Given the description of an element on the screen output the (x, y) to click on. 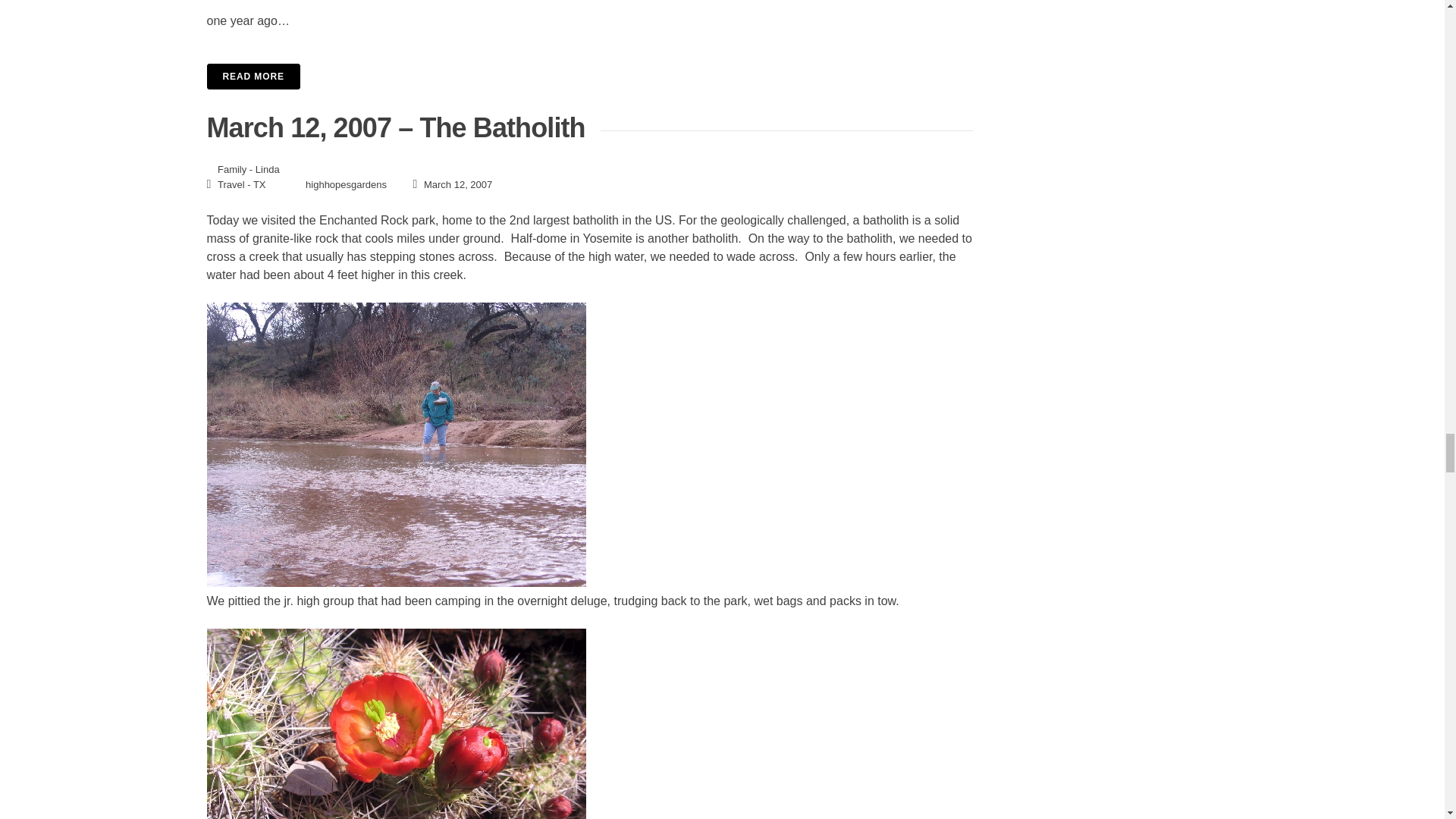
READ MORE (252, 76)
READ MORE (589, 76)
Family - Linda (247, 169)
Travel - TX (241, 184)
